Given the description of an element on the screen output the (x, y) to click on. 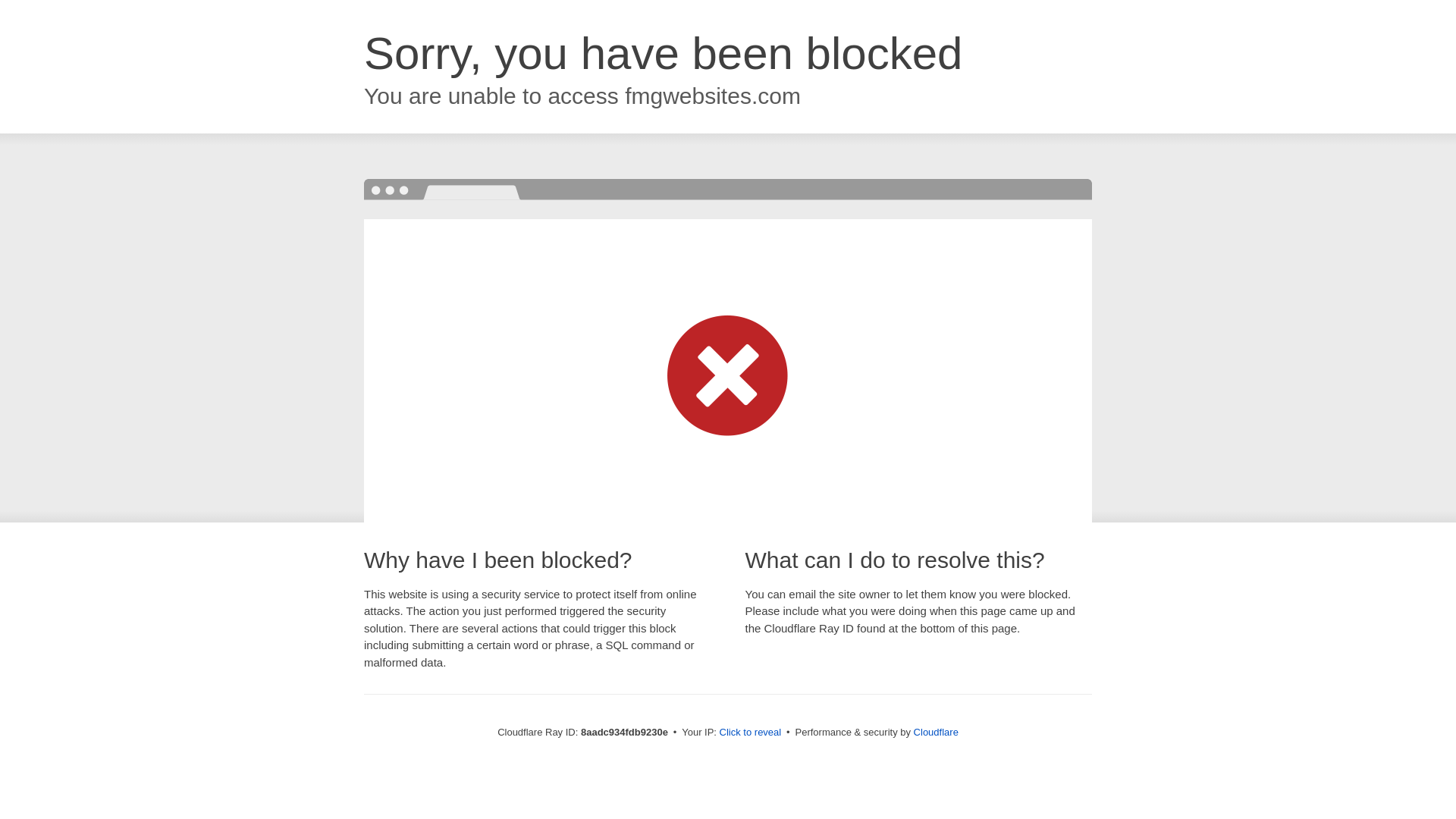
Cloudflare (936, 731)
Click to reveal (750, 732)
